Given the description of an element on the screen output the (x, y) to click on. 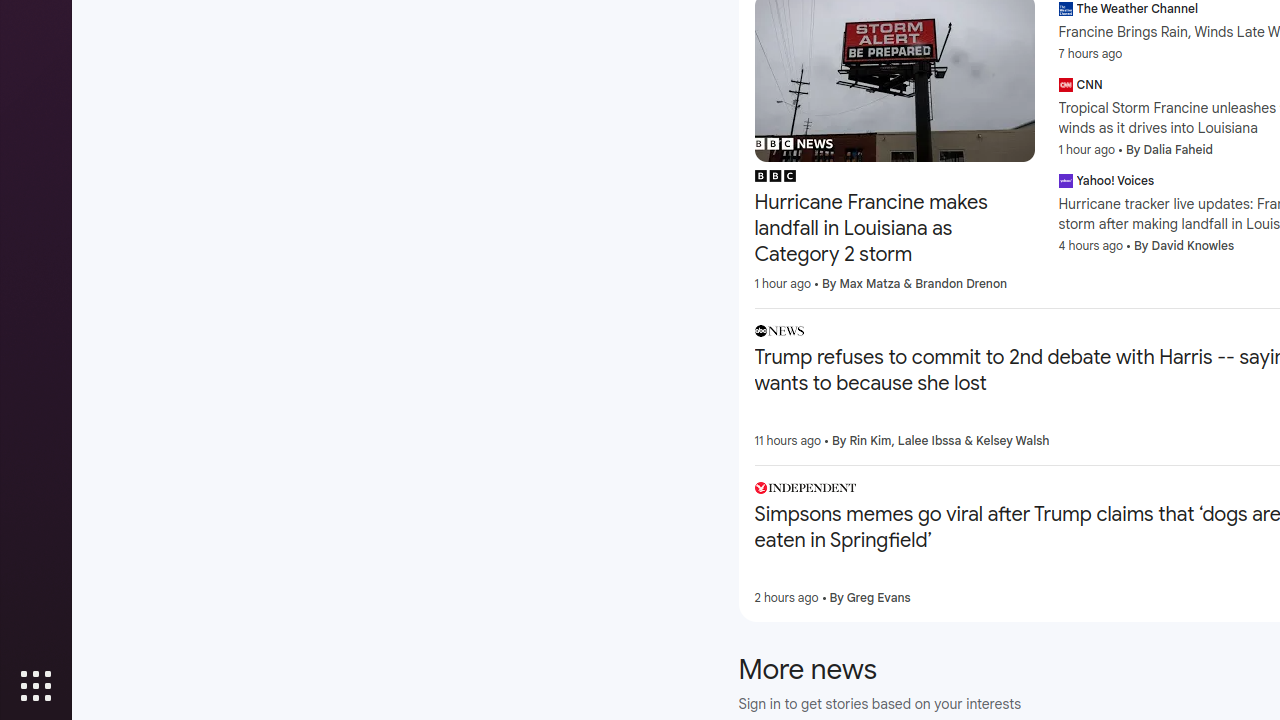
Show Applications Element type: toggle-button (36, 686)
More - Hurricane Francine makes landfall in Louisiana as Category 2 storm Element type: push-button (1028, 179)
Hurricane Francine makes landfall in Louisiana as Category 2 storm Element type: link (894, 229)
